Given the description of an element on the screen output the (x, y) to click on. 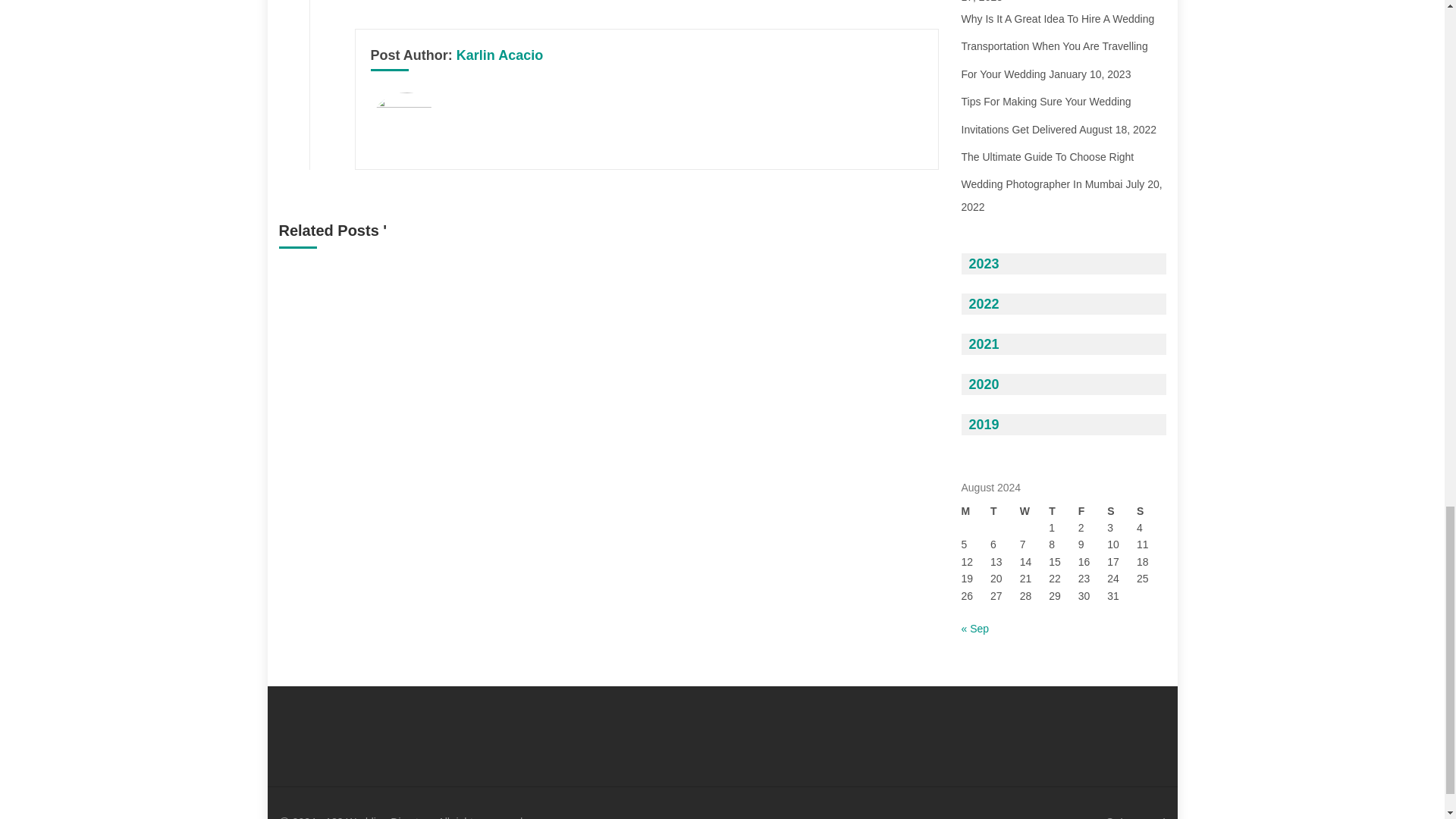
Saturday (1121, 510)
Sunday (1151, 510)
Wednesday (1034, 510)
Thursday (1063, 510)
Monday (975, 510)
Tuesday (1005, 510)
Friday (1093, 510)
Karlin Acacio (500, 55)
